Given the description of an element on the screen output the (x, y) to click on. 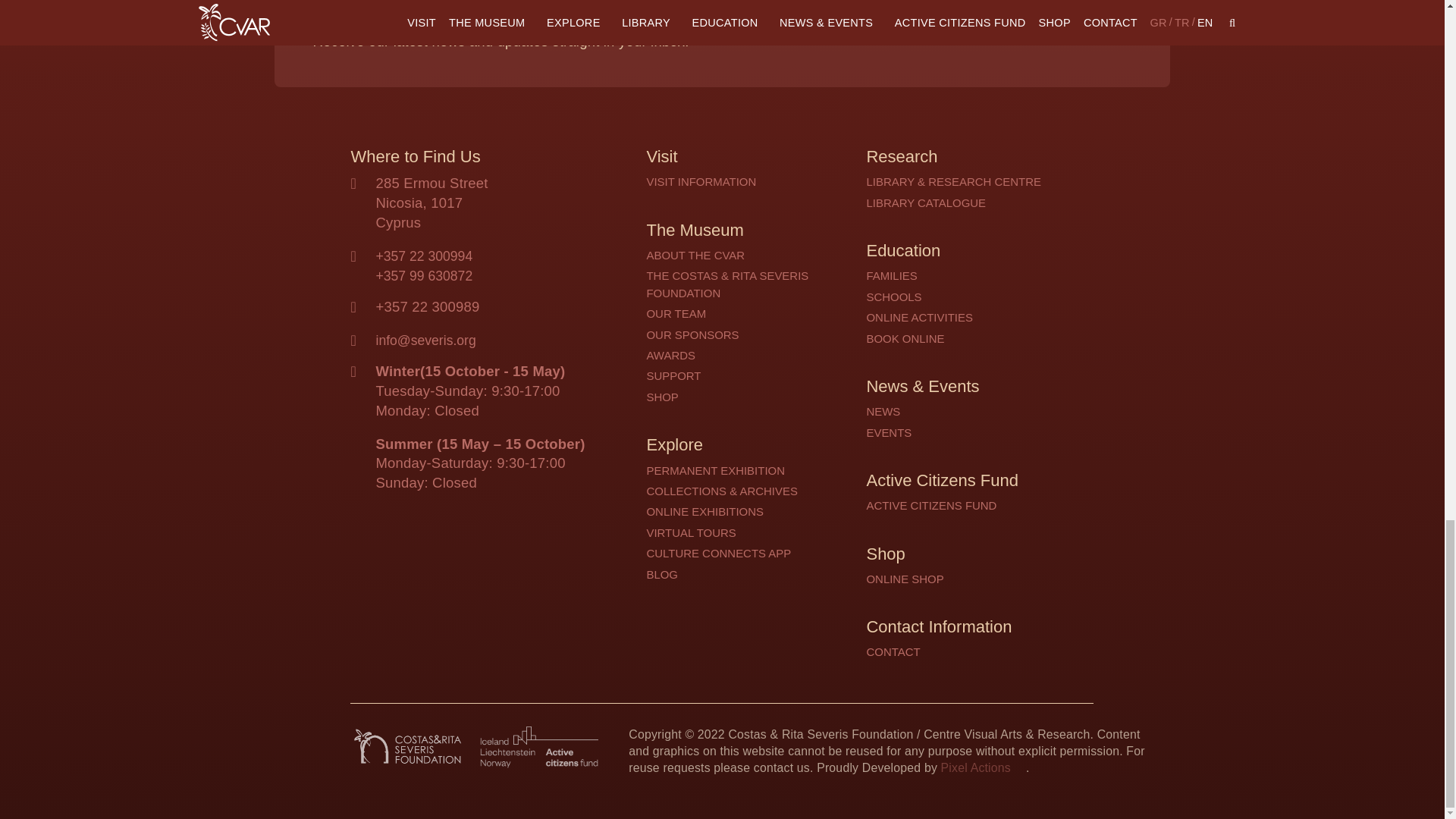
Subscribe (1067, 17)
